Given the description of an element on the screen output the (x, y) to click on. 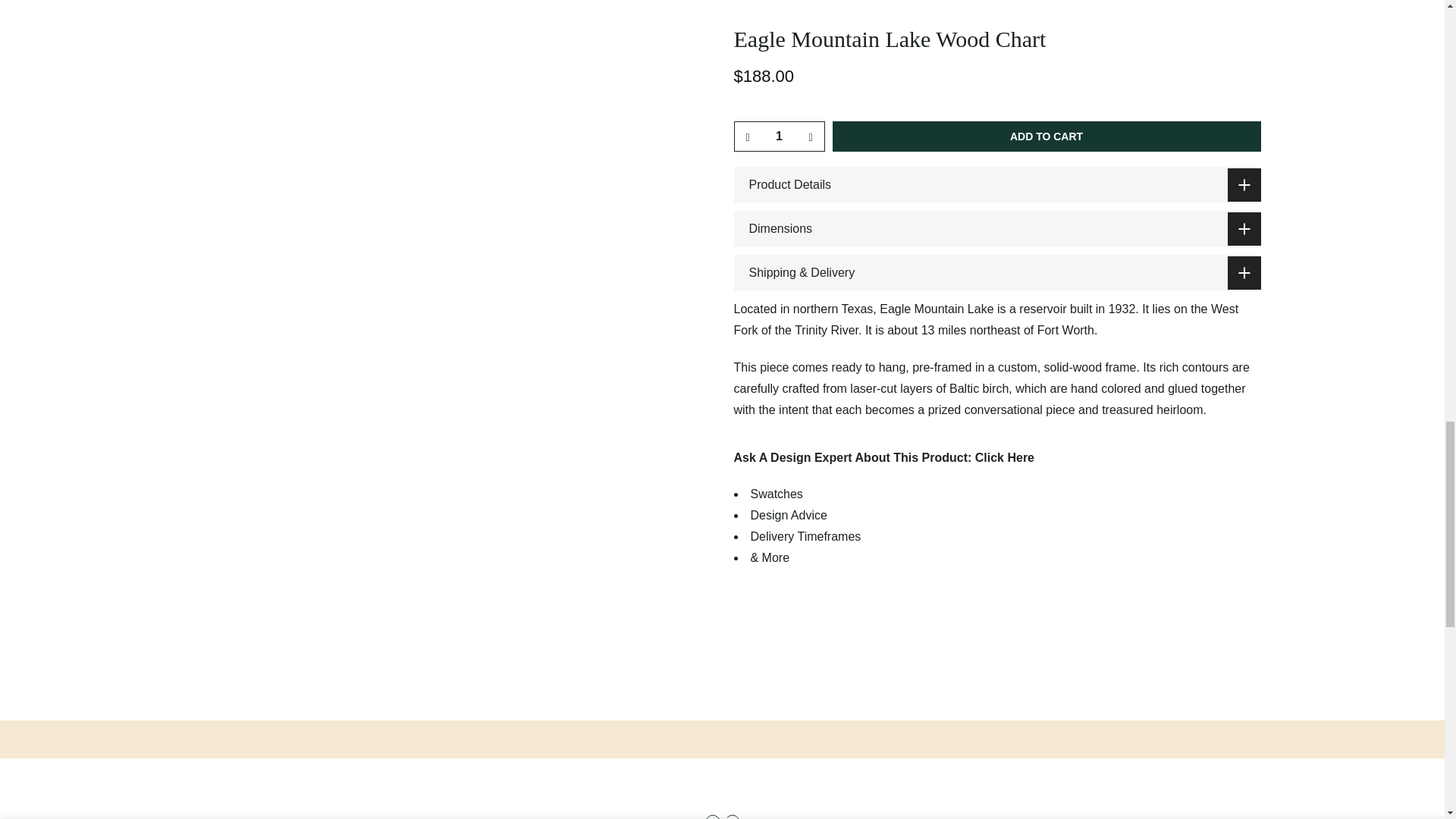
Dimensions (996, 228)
1 (778, 136)
Product Details (996, 185)
Ask A Design Expert About This Product: Click Here (884, 457)
ADD TO CART (1046, 136)
